Given the description of an element on the screen output the (x, y) to click on. 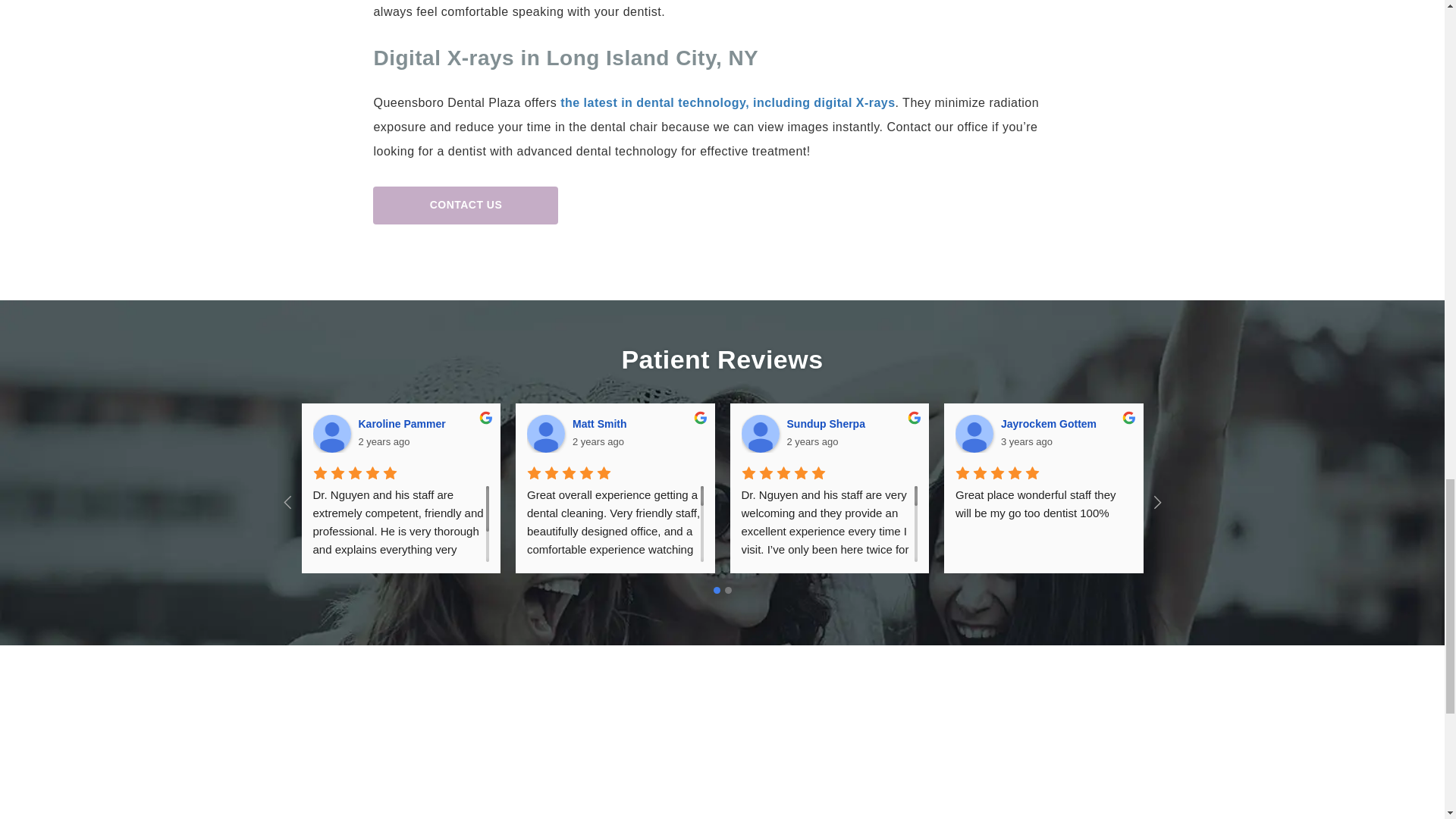
the latest in dental technology, including digital X-rays (727, 102)
CONTACT US (464, 205)
